Given the description of an element on the screen output the (x, y) to click on. 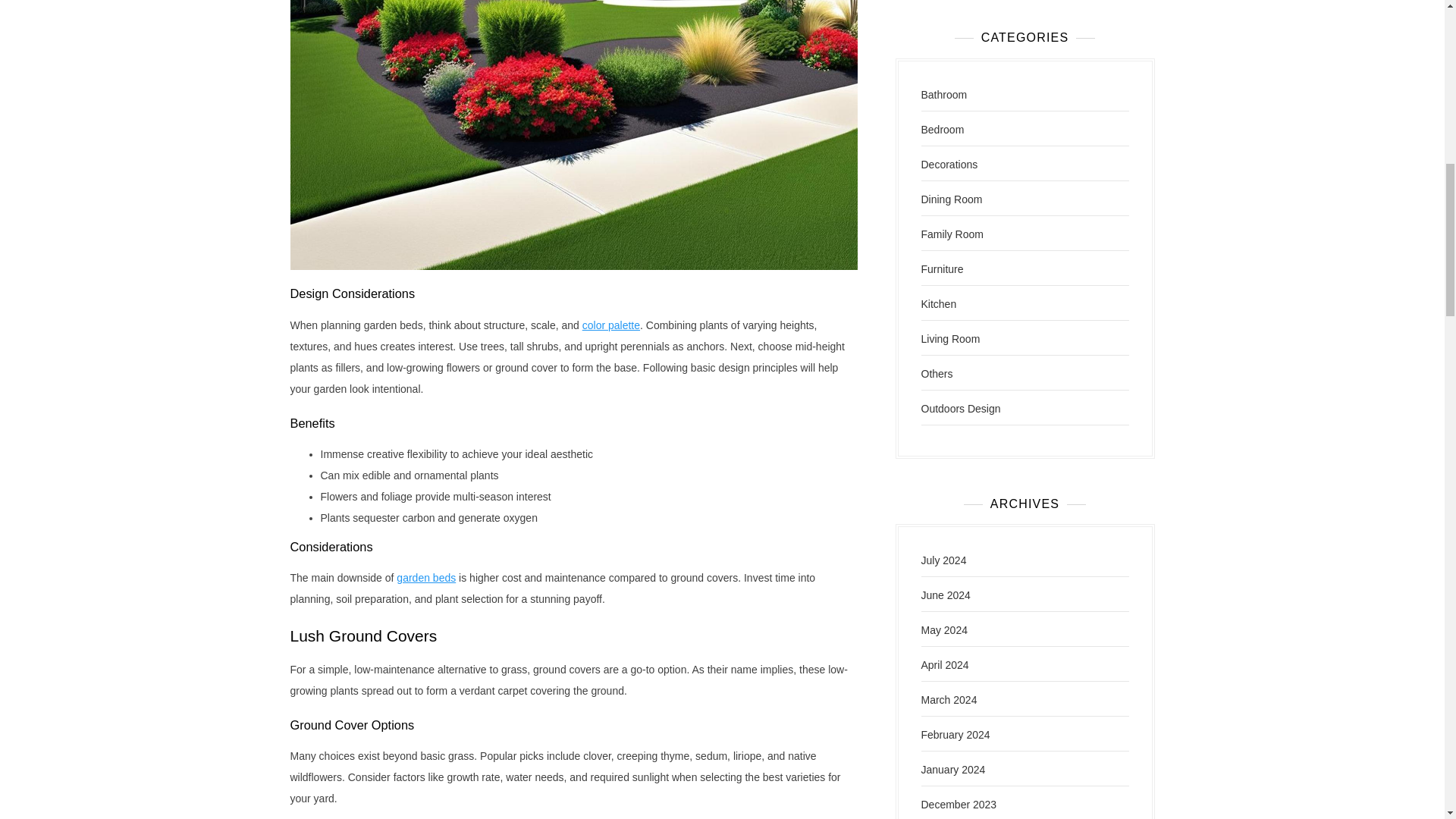
Family Room (951, 234)
May 2024 (943, 630)
Furniture (941, 268)
Bathroom (943, 94)
June 2024 (944, 594)
Kitchen (938, 304)
Dining Room (950, 199)
Outdoors Design (960, 408)
color palette (611, 325)
color palette (611, 325)
April 2024 (944, 664)
garden beds (425, 577)
Others (936, 373)
July 2024 (943, 560)
garden beds (425, 577)
